Given the description of an element on the screen output the (x, y) to click on. 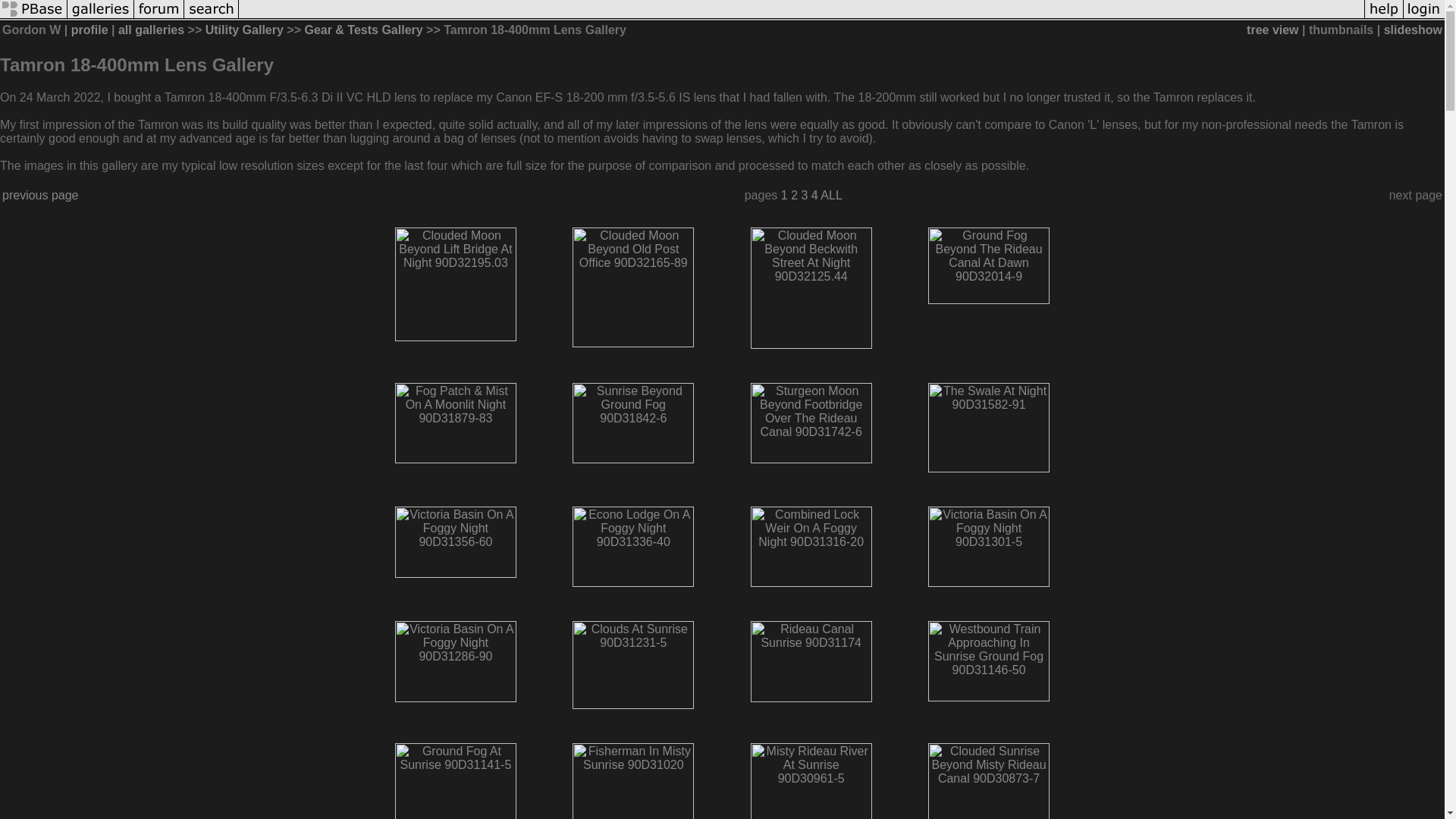
slideshow (1413, 29)
previous page (40, 195)
pbase photo search (211, 16)
Utility Gallery (244, 29)
give me some help (1383, 16)
all galleries (150, 29)
view all of merriwolf's galleries (150, 29)
profile (89, 29)
tree view (1272, 29)
popular photos (801, 16)
photography discussion forums (158, 16)
pbase photos (33, 16)
recent picture uploads (99, 16)
ALL (831, 195)
goto merriwolf's home page (89, 29)
